Given the description of an element on the screen output the (x, y) to click on. 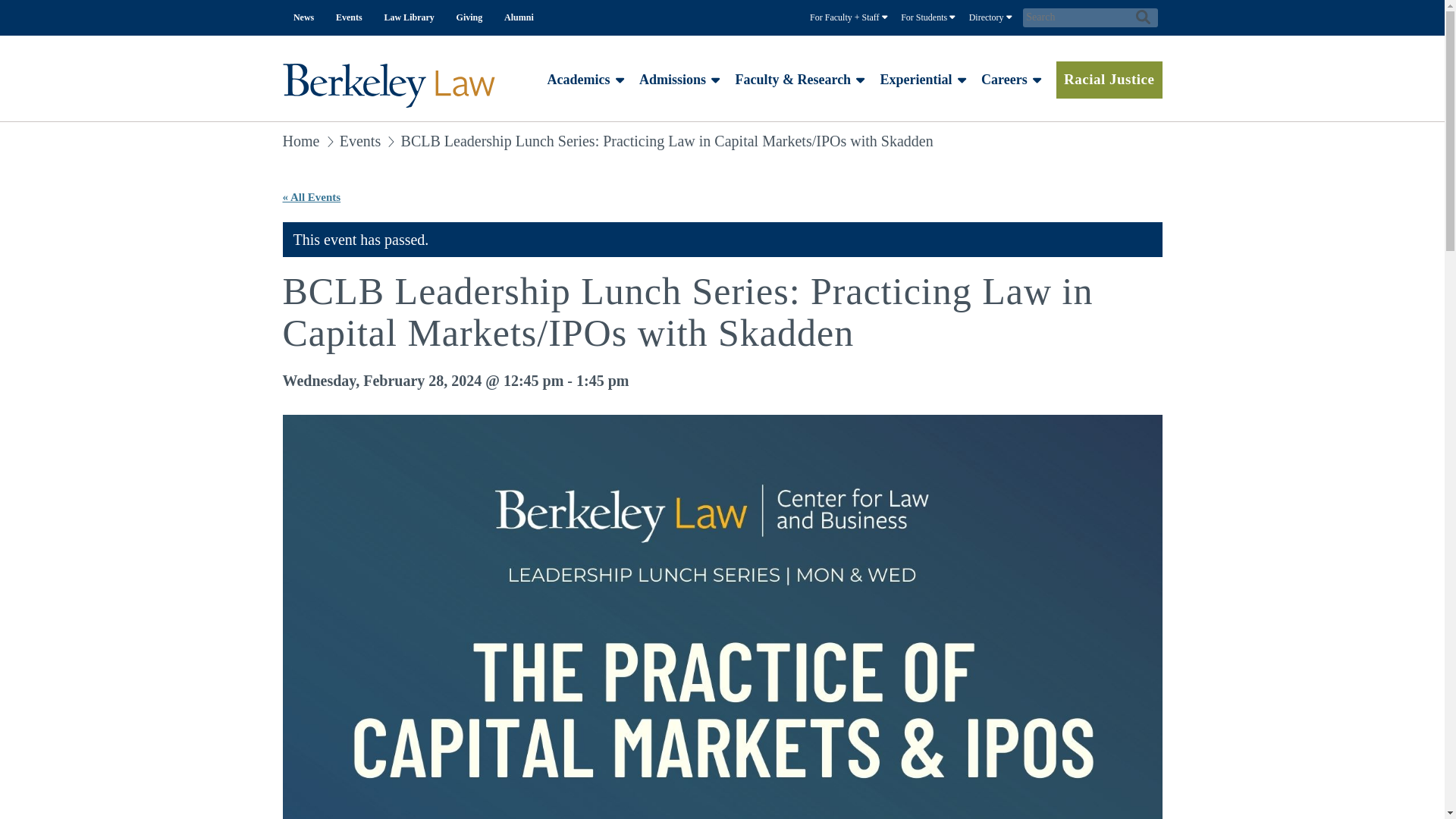
Law Library (408, 18)
For Students (927, 18)
Events (348, 18)
News (303, 18)
Alumni (518, 18)
Giving (469, 18)
